Given the description of an element on the screen output the (x, y) to click on. 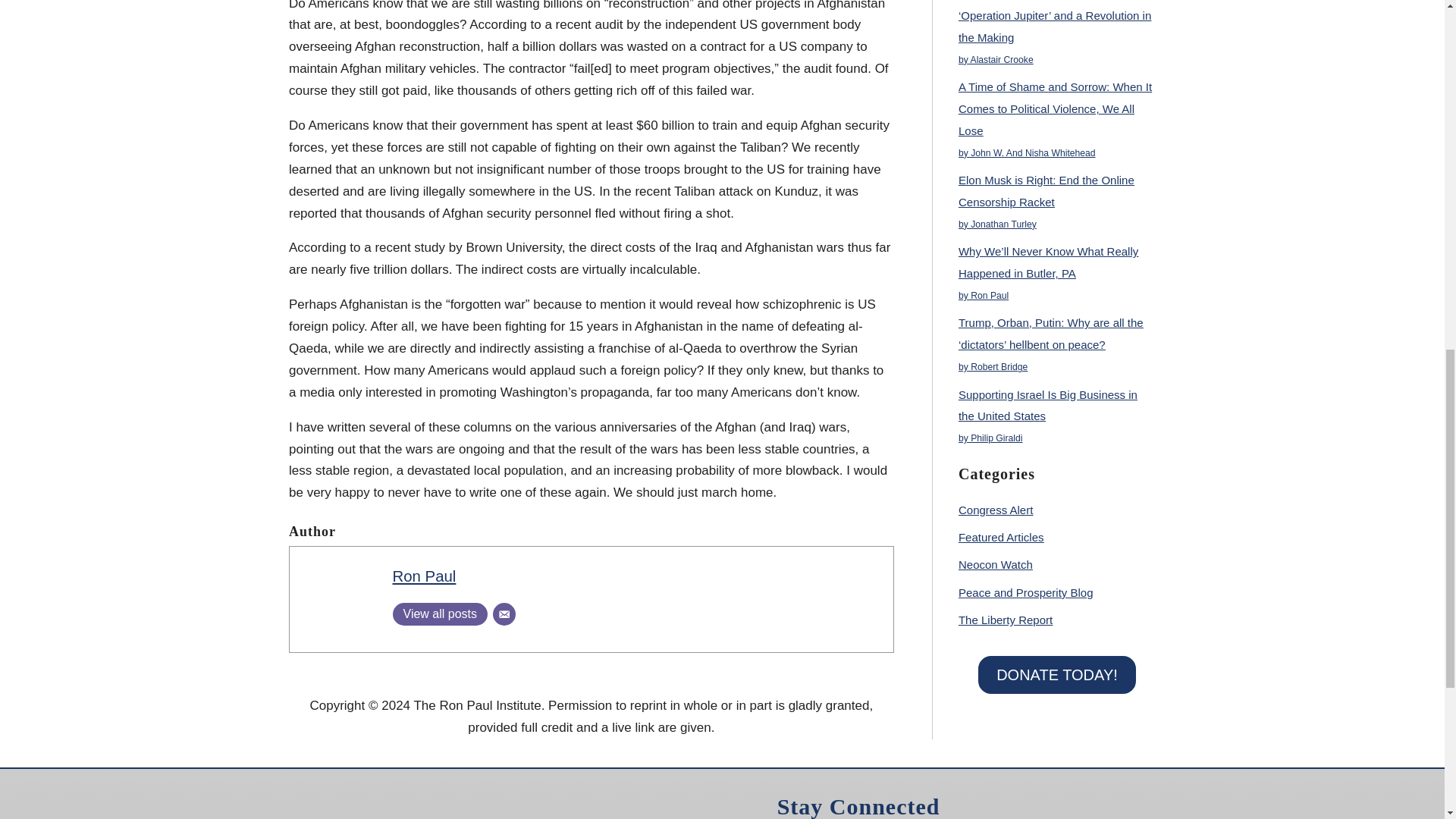
View all posts (440, 613)
Ron Paul (425, 576)
Ron Paul (425, 576)
View all posts (440, 613)
